Given the description of an element on the screen output the (x, y) to click on. 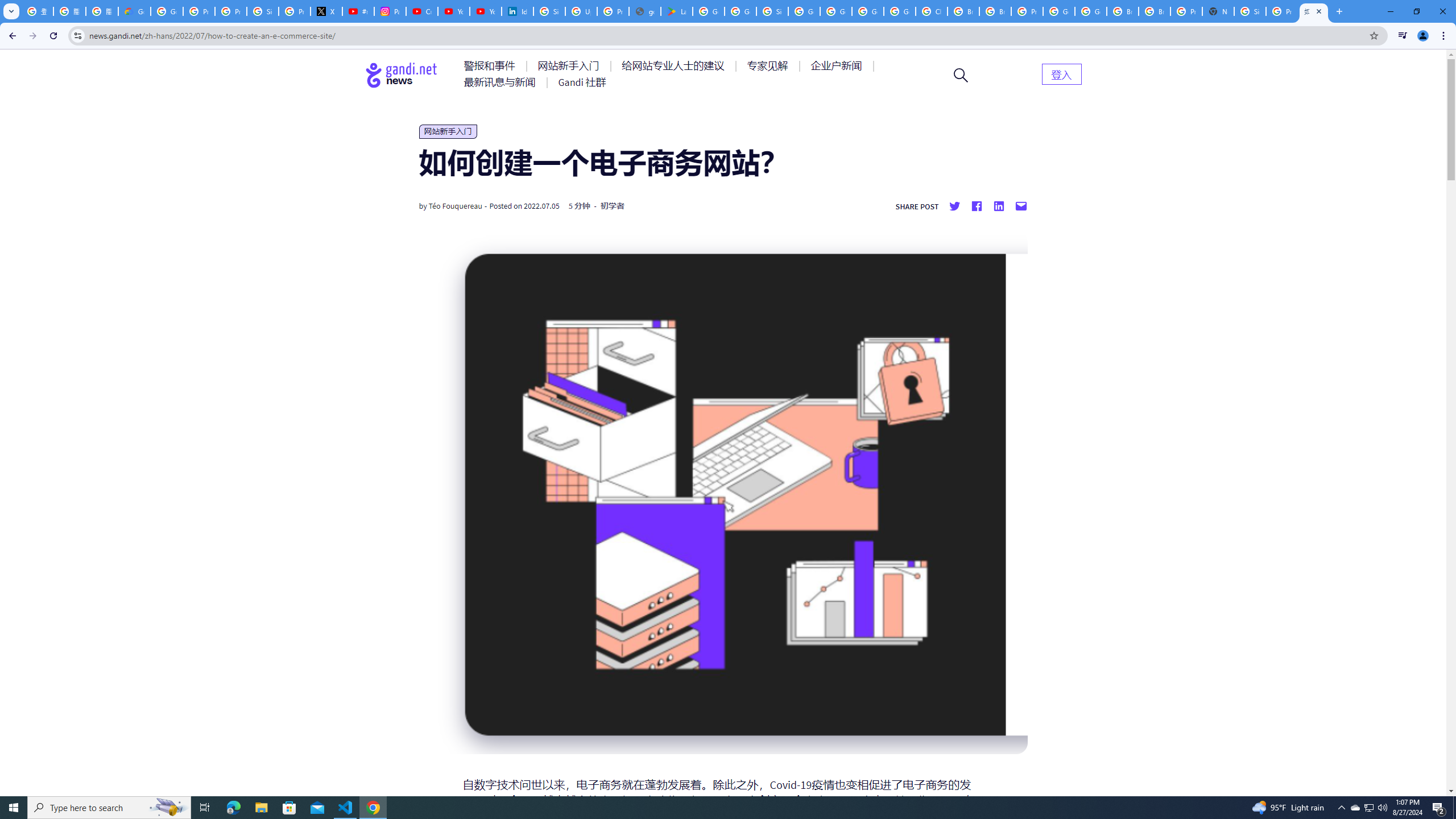
Privacy Help Center - Policies Help (198, 11)
AutomationID: menu-item-77766 (502, 82)
X (326, 11)
Google Workspace - Specific Terms (740, 11)
Go to home (401, 75)
